Given the description of an element on the screen output the (x, y) to click on. 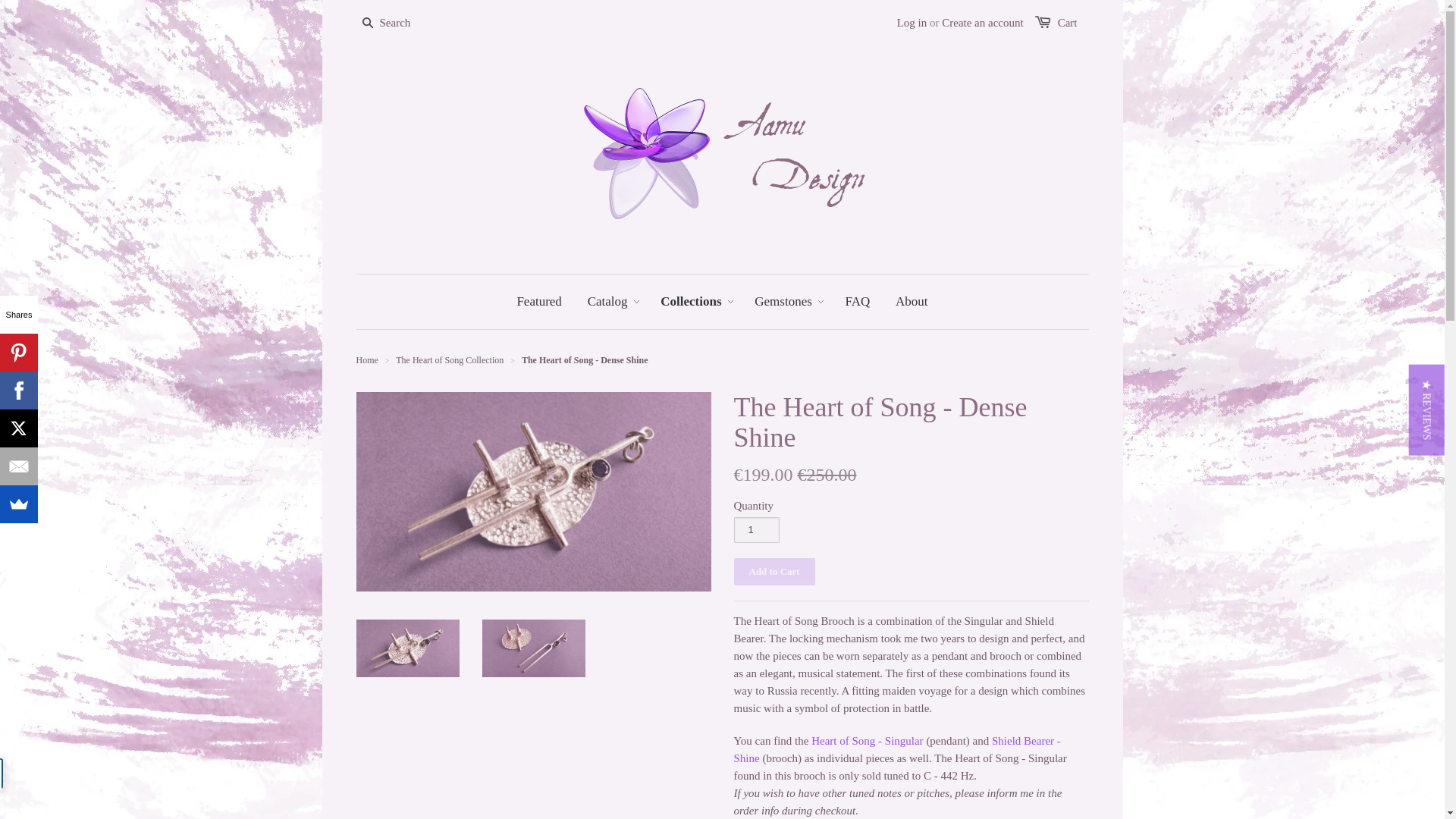
Log in (911, 22)
Cart (1067, 22)
Catalog (607, 301)
1 (755, 529)
X (18, 428)
SumoMe (18, 504)
Add to Cart (774, 571)
Email (18, 466)
Aamu Design (367, 359)
Create an account (982, 22)
The Heart of Song Collection (449, 359)
Add to Cart (774, 571)
The Heart of Song Collection (449, 359)
Pinterest (18, 352)
Facebook (18, 390)
